Given the description of an element on the screen output the (x, y) to click on. 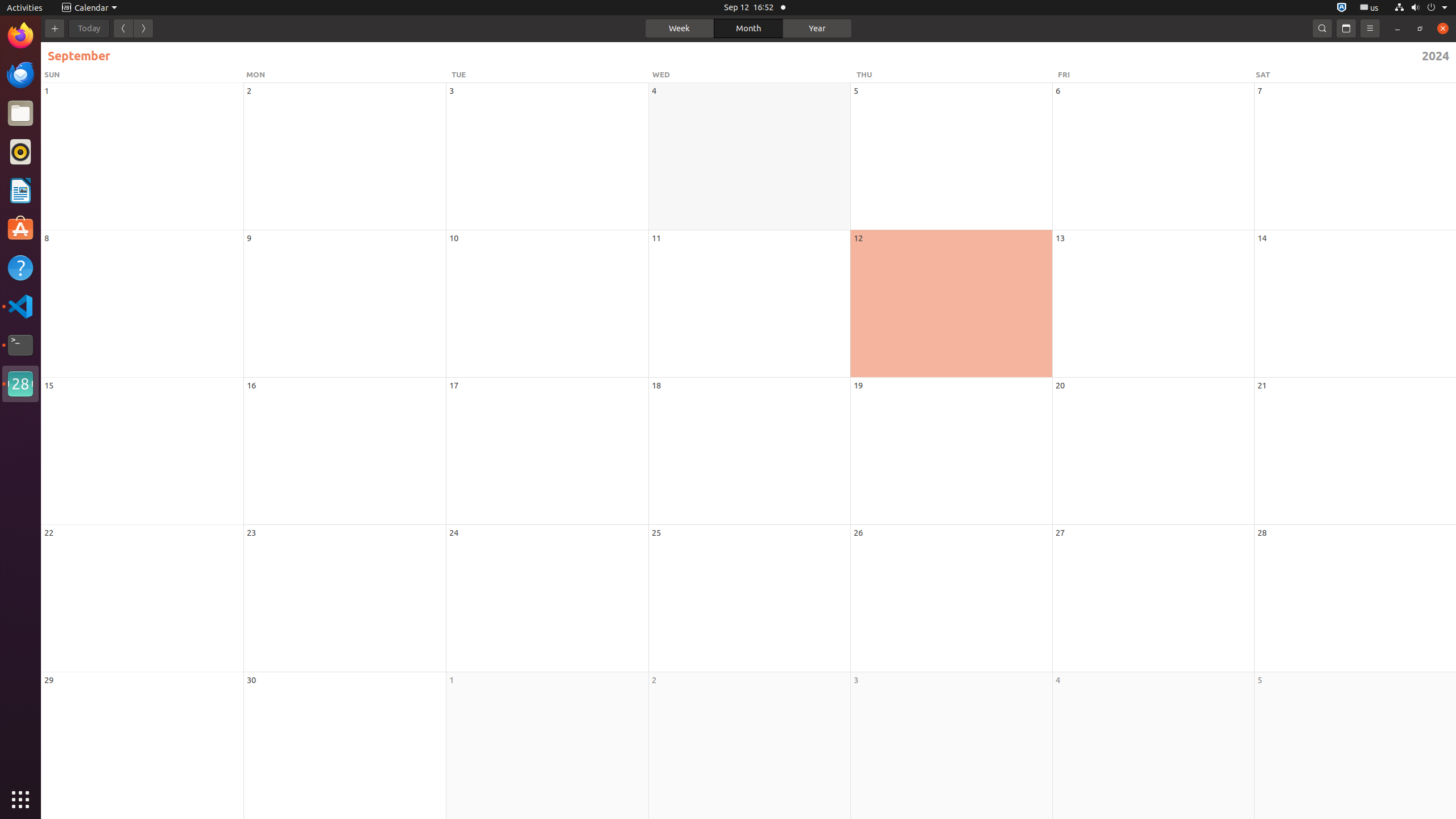
IsaHelpMain.desktop Element type: label (75, 170)
9 Element type: label (248, 237)
28 Element type: label (1261, 532)
10 Element type: label (453, 237)
September Element type: label (403, 55)
